Given the description of an element on the screen output the (x, y) to click on. 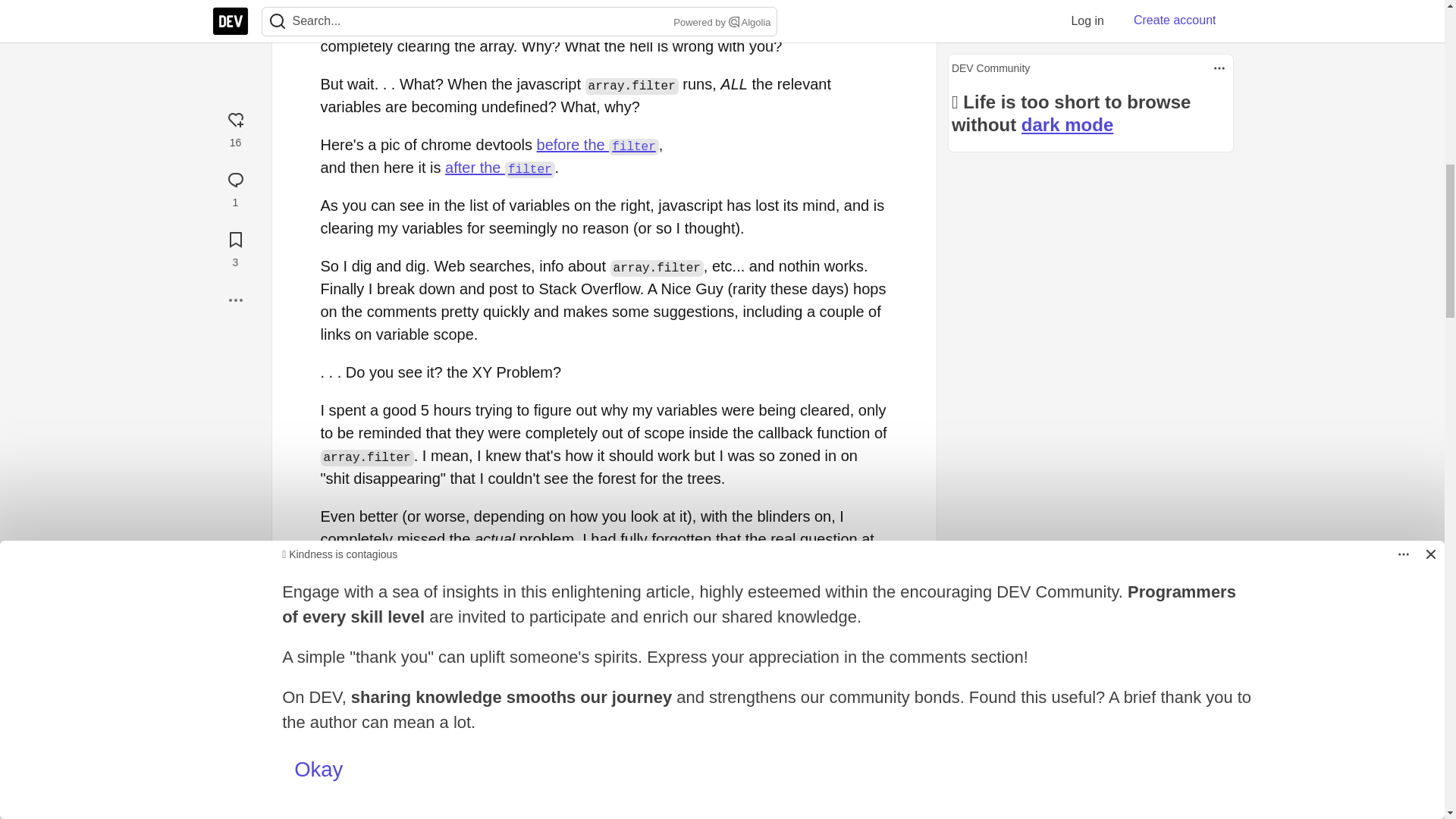
after the filter (499, 167)
before the filter (598, 144)
